Given the description of an element on the screen output the (x, y) to click on. 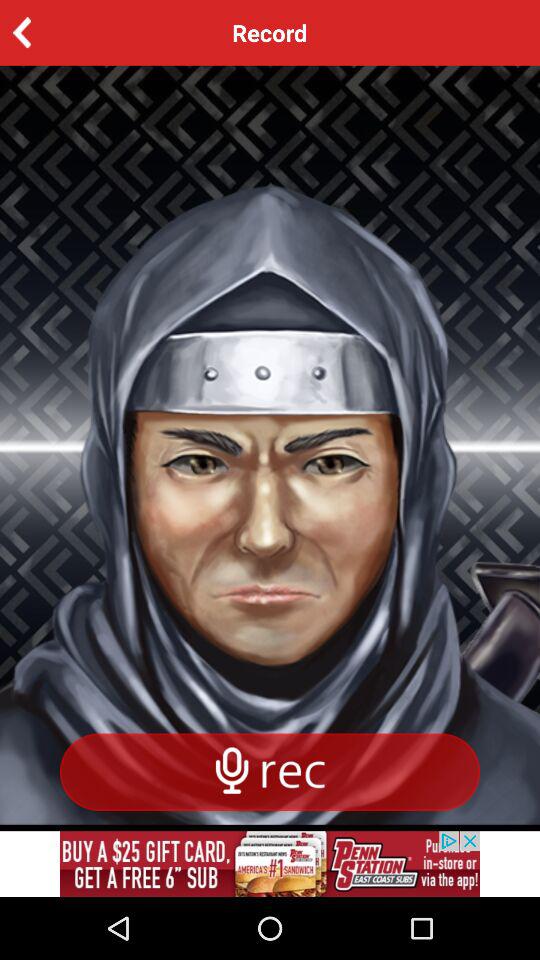
record (270, 771)
